Given the description of an element on the screen output the (x, y) to click on. 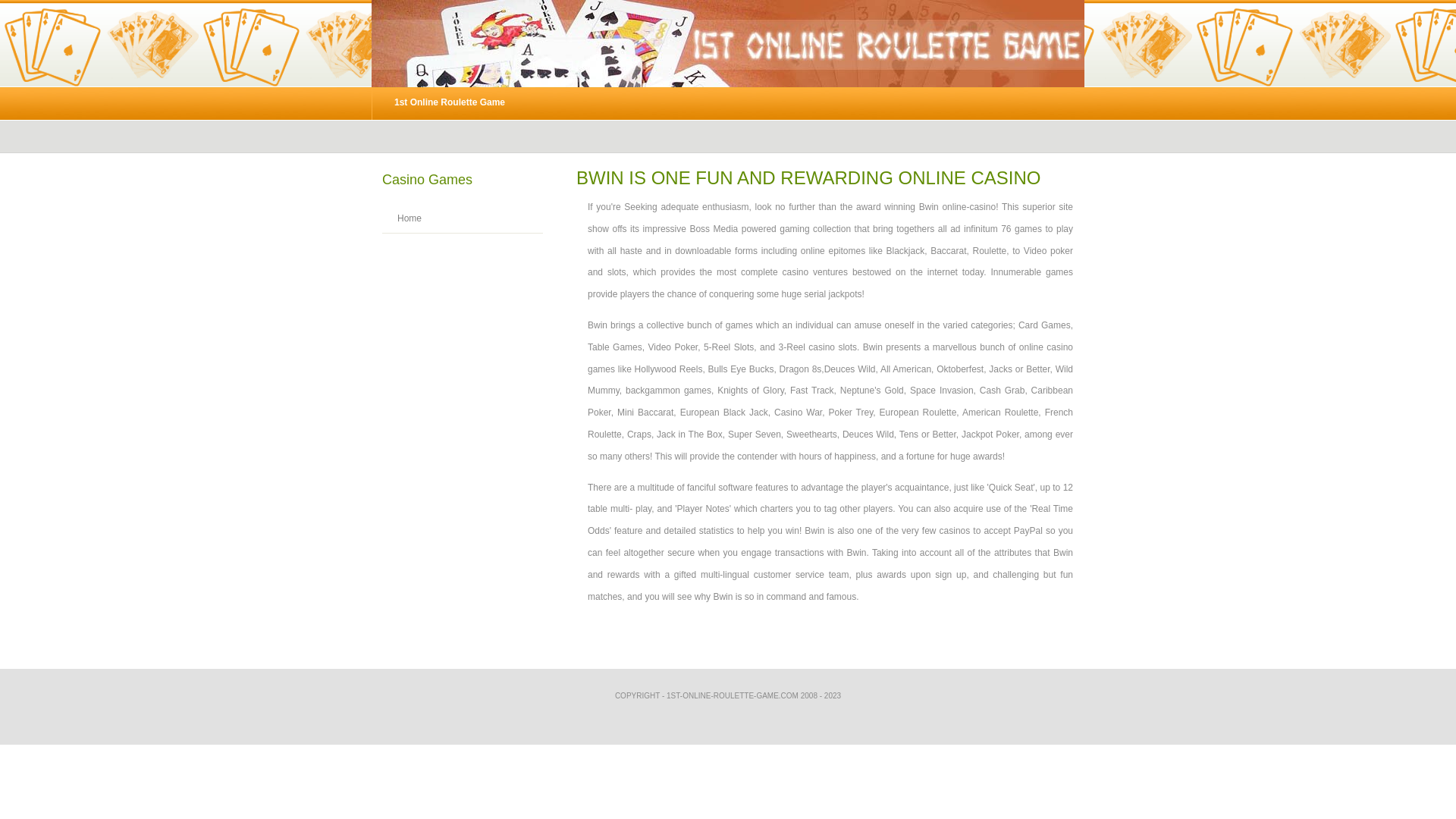
1st Online Roulette Game Element type: text (449, 103)
Home Element type: text (401, 218)
